Given the description of an element on the screen output the (x, y) to click on. 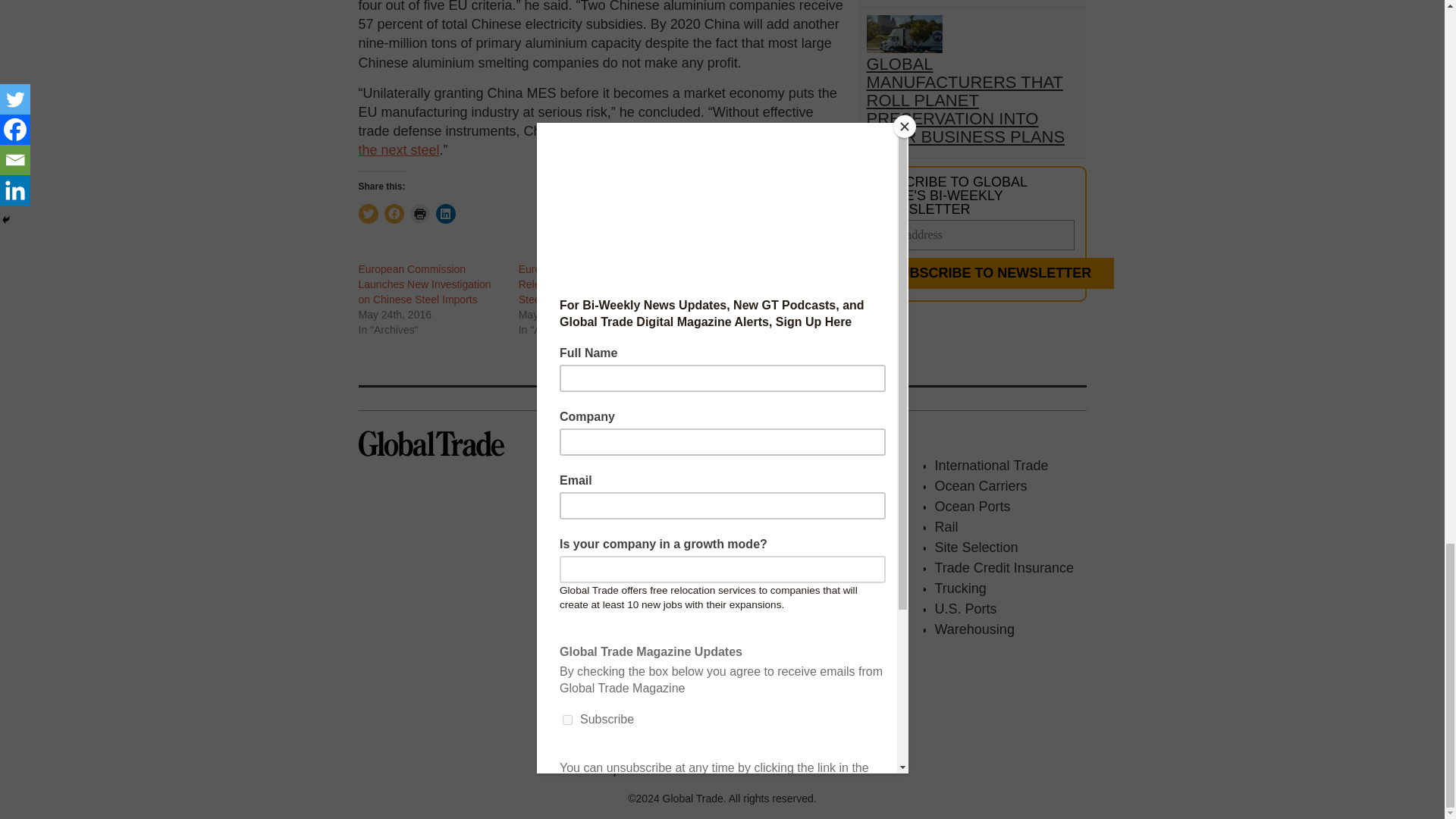
Click to print (419, 213)
European Commission Launches New Anti-Dumping Investigations (746, 283)
Click to share on LinkedIn (444, 213)
Click to share on Facebook (393, 213)
European Commission Releases Policy Proposals on Steel (588, 283)
Click to share on Twitter (367, 213)
Subscribe to Newsletter (990, 273)
